Given the description of an element on the screen output the (x, y) to click on. 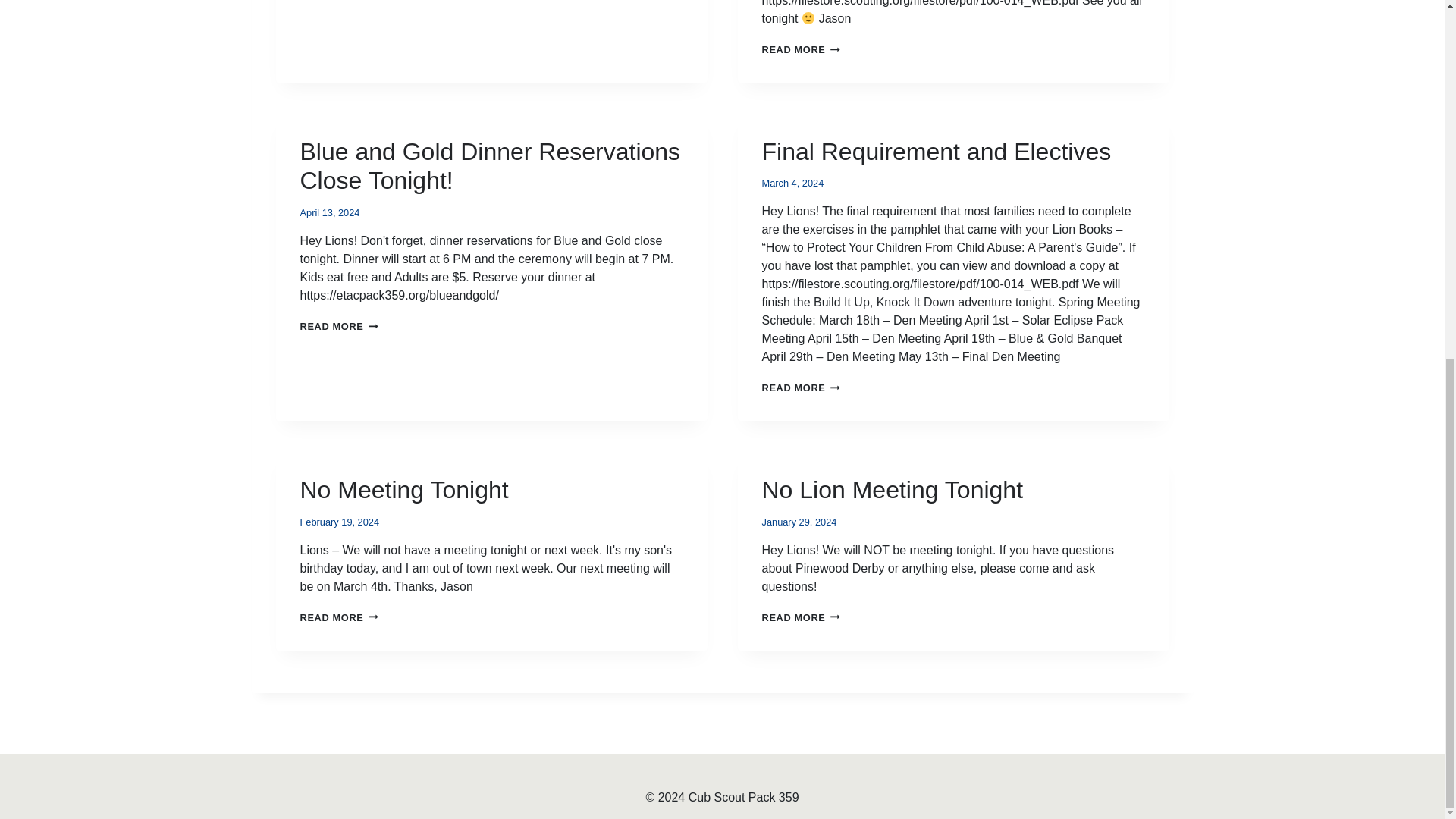
Blue and Gold Dinner Reservations Close Tonight! (490, 166)
Final Requirement and Electives (935, 151)
No Lion Meeting Tonight (892, 489)
No Meeting Tonight (800, 387)
